Given the description of an element on the screen output the (x, y) to click on. 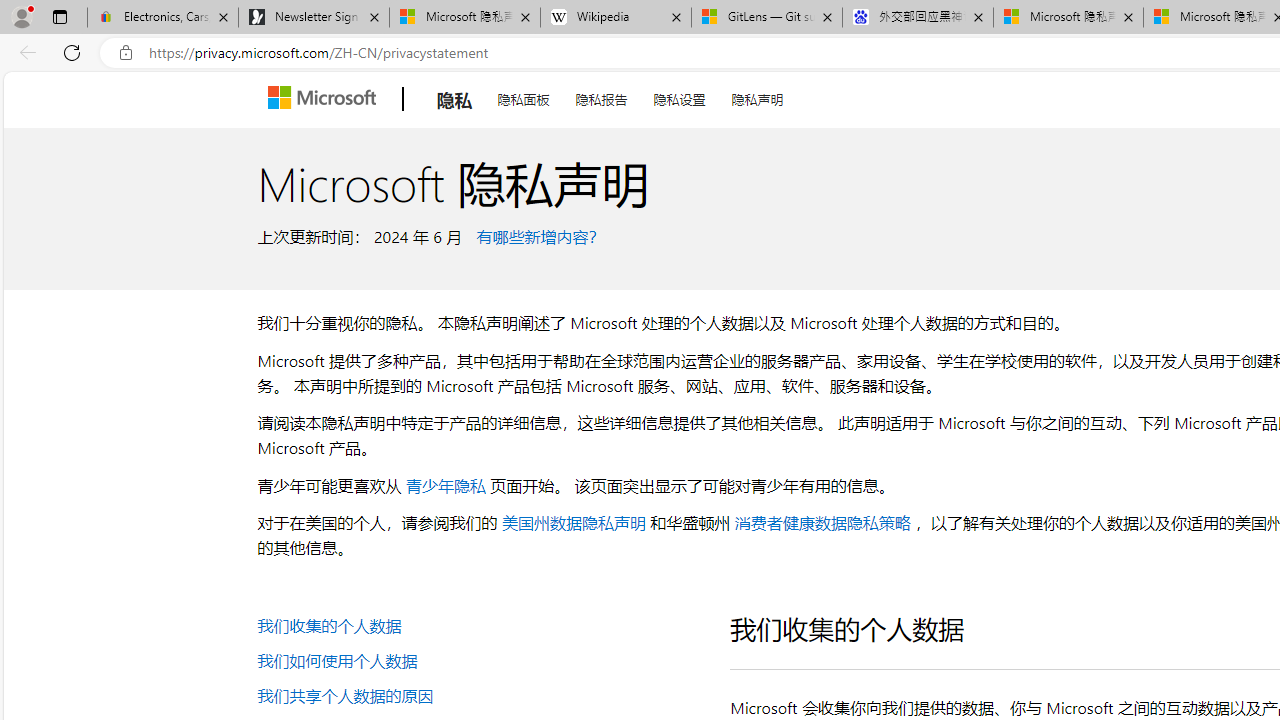
Newsletter Sign Up (314, 17)
